Given the description of an element on the screen output the (x, y) to click on. 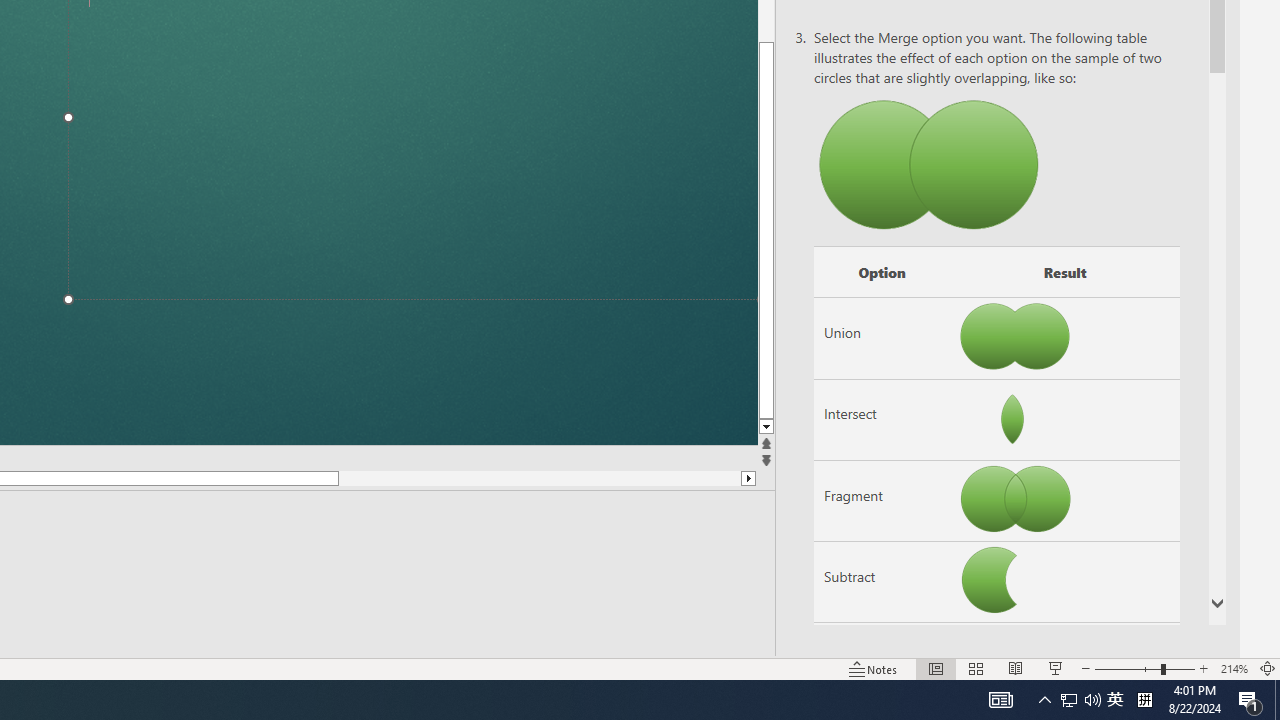
Combine (881, 663)
Zoom 214% (1234, 668)
Notes  (874, 668)
Subtract (881, 582)
Zoom (1144, 668)
Zoom Out (1127, 668)
Zoom to Fit  (1267, 668)
Fragment (881, 501)
Normal (936, 668)
Slide Show (1055, 668)
